Given the description of an element on the screen output the (x, y) to click on. 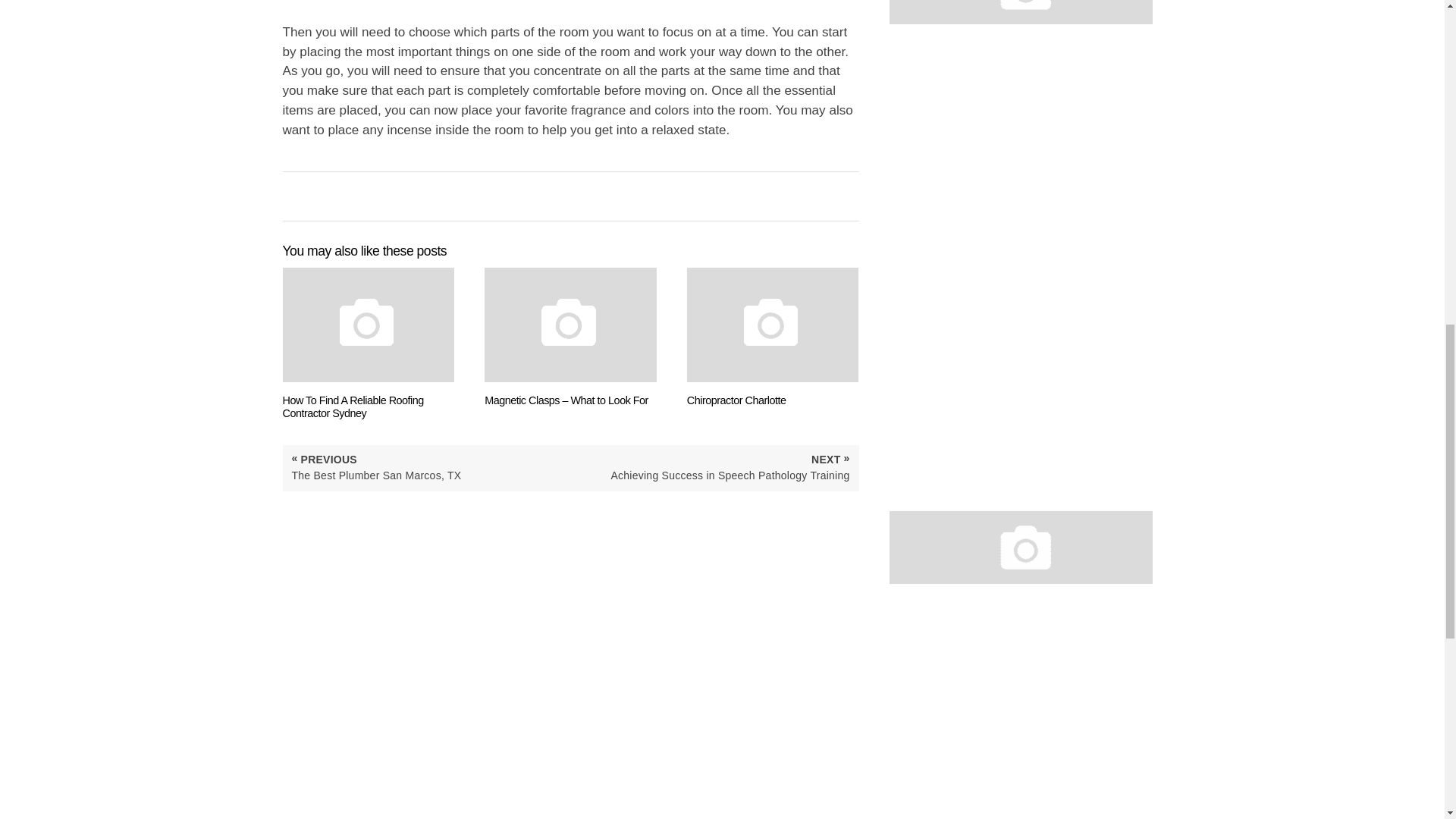
Chiropractor Charlotte (773, 337)
What You Need to Know About Car Detailing (1020, 547)
How To Find A Reliable Roofing Contractor Sydney (368, 343)
Chiropractor Charlotte (773, 337)
How To Find A Reliable Roofing Contractor Sydney (368, 343)
The Basics of Wealth Management (1020, 12)
